Given the description of an element on the screen output the (x, y) to click on. 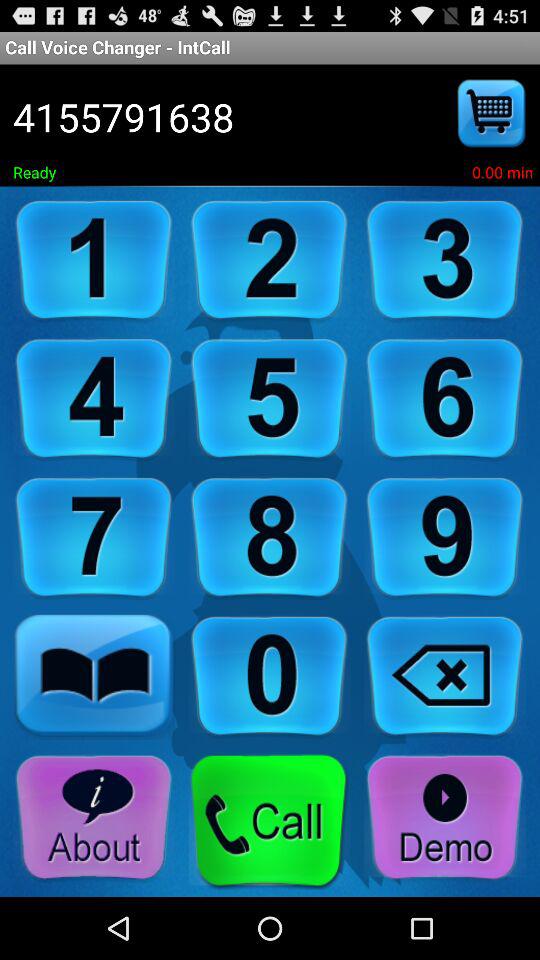
contact button (94, 676)
